Given the description of an element on the screen output the (x, y) to click on. 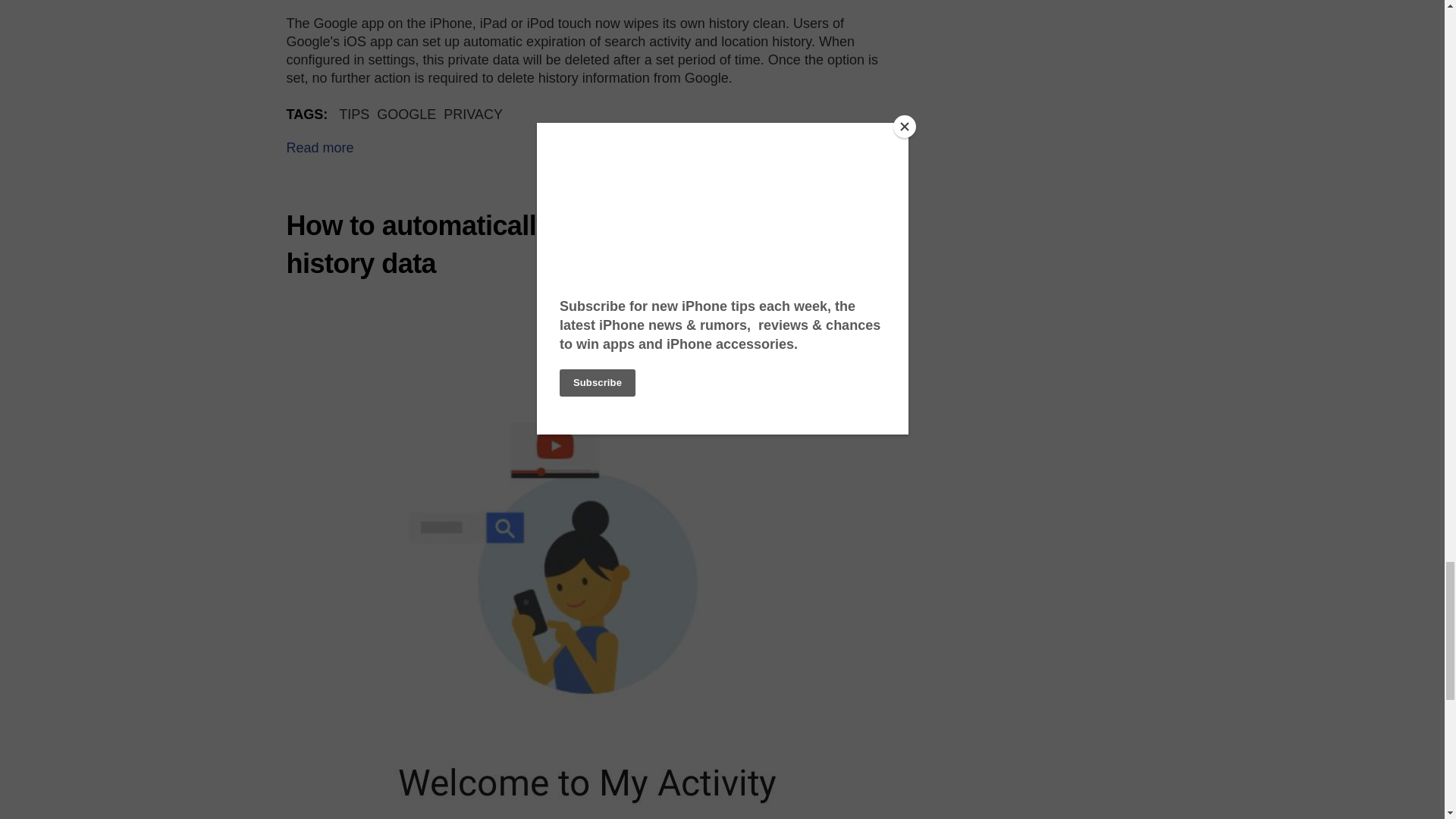
How to automatically delete your Google history data (541, 244)
PRIVACY (473, 114)
GOOGLE (406, 114)
How to auto-delete Google app data on iPhone (319, 147)
TIPS (354, 114)
